Given the description of an element on the screen output the (x, y) to click on. 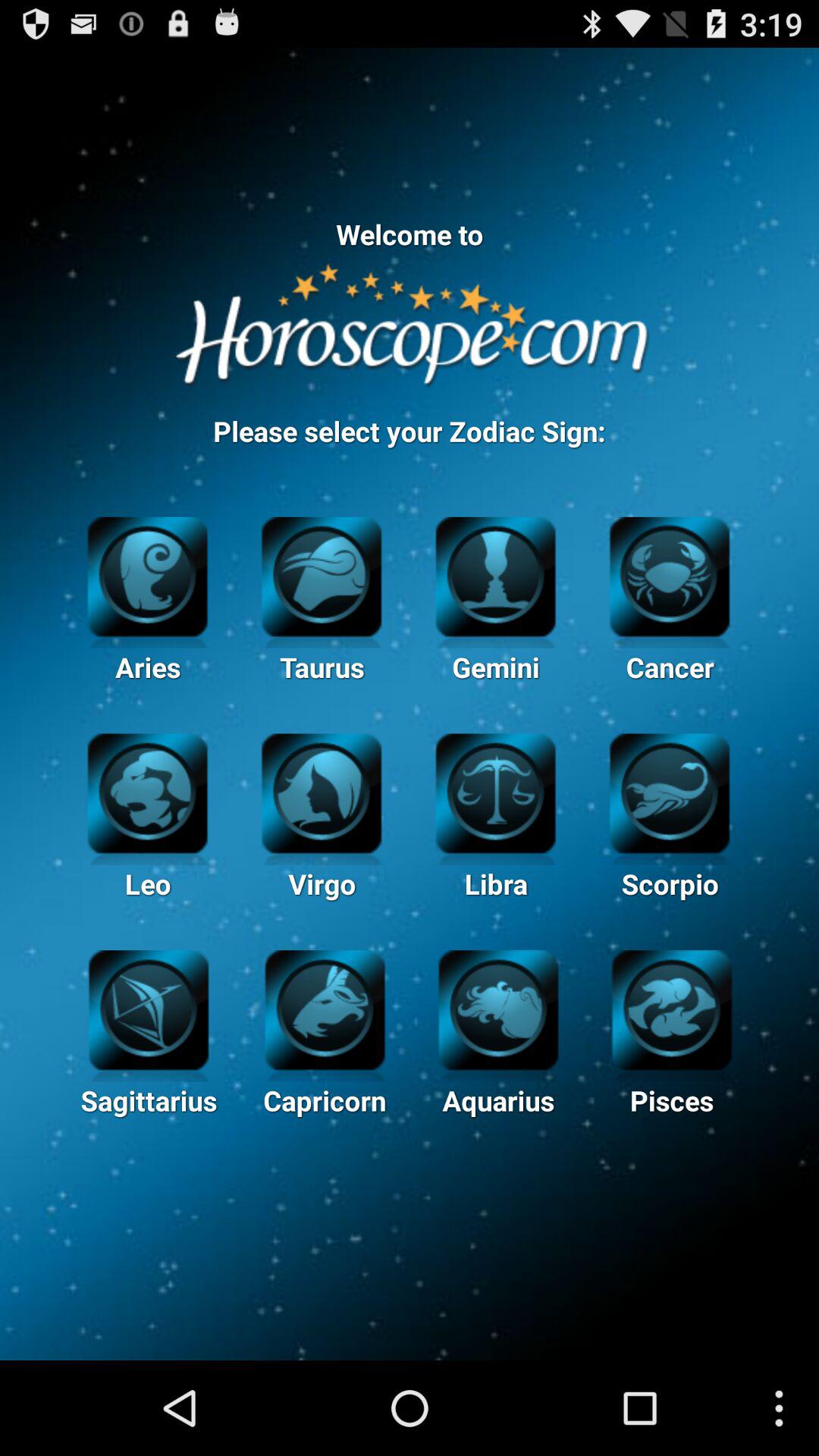
select scorpio (669, 791)
